Given the description of an element on the screen output the (x, y) to click on. 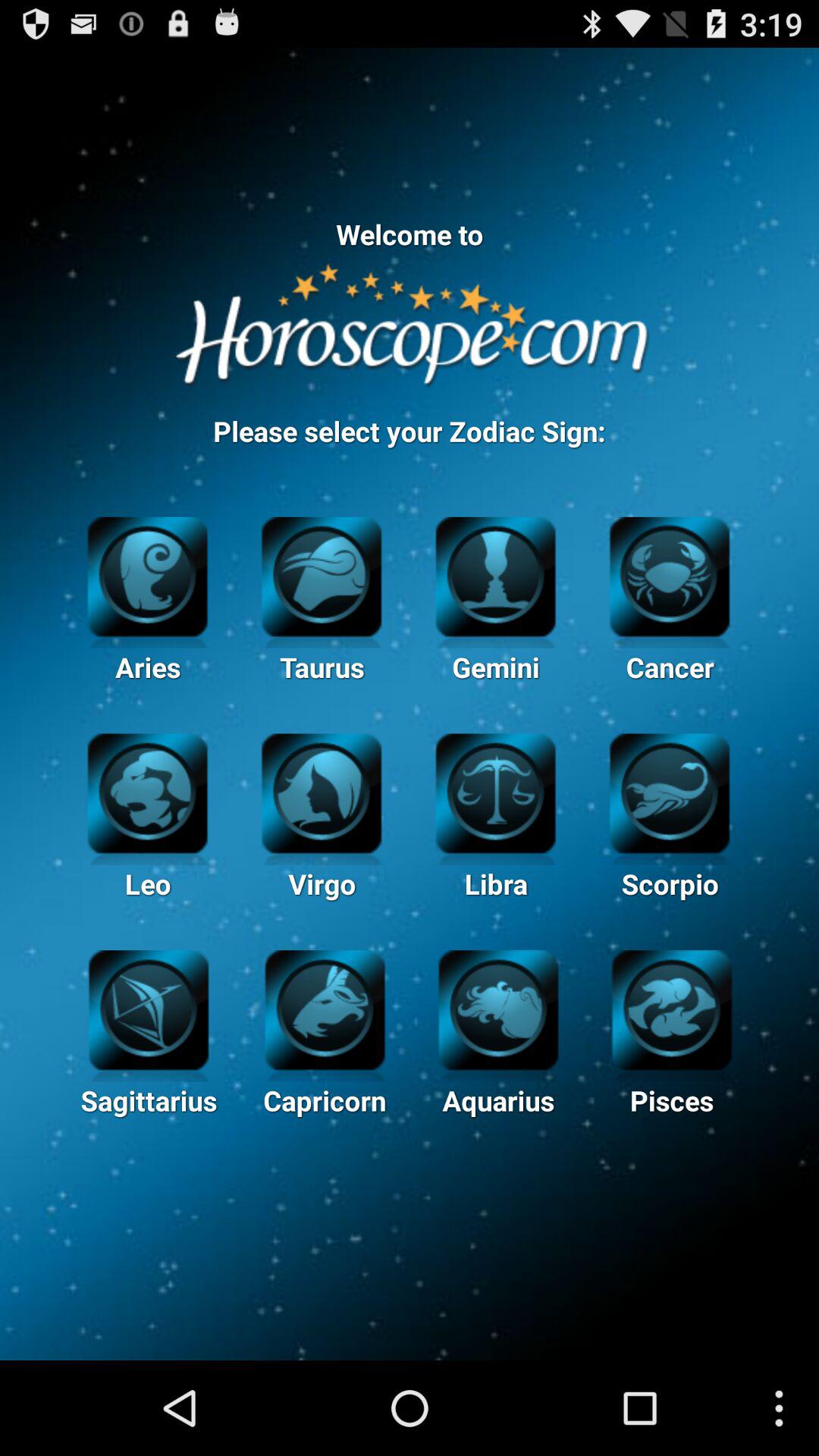
select scorpio (669, 791)
